Given the description of an element on the screen output the (x, y) to click on. 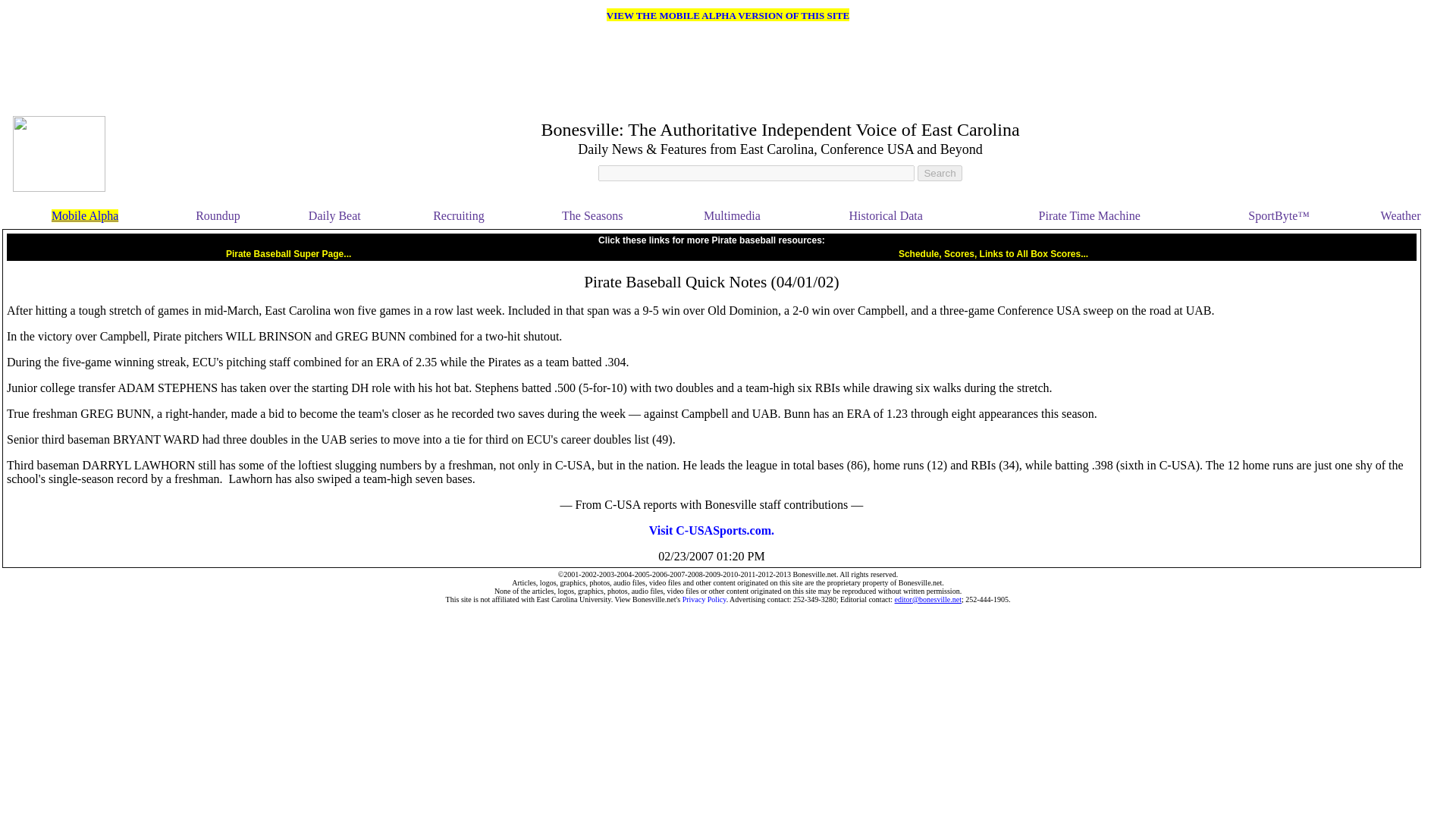
Historical Data (885, 215)
Recruiting (458, 215)
Mobile Alpha (83, 215)
Pirate Baseball Super Page... (287, 252)
The Seasons (592, 215)
Visit C-USASports.com. (711, 530)
Roundup (217, 215)
VIEW THE MOBILE ALPHA VERSION OF THIS SITE (727, 14)
Search (938, 172)
Daily Beat (334, 215)
Privacy Policy (704, 599)
Weather (1400, 215)
Schedule, Scores, Links to All Box Scores... (992, 252)
Pirate Time Machine (1089, 215)
Search (938, 172)
